Given the description of an element on the screen output the (x, y) to click on. 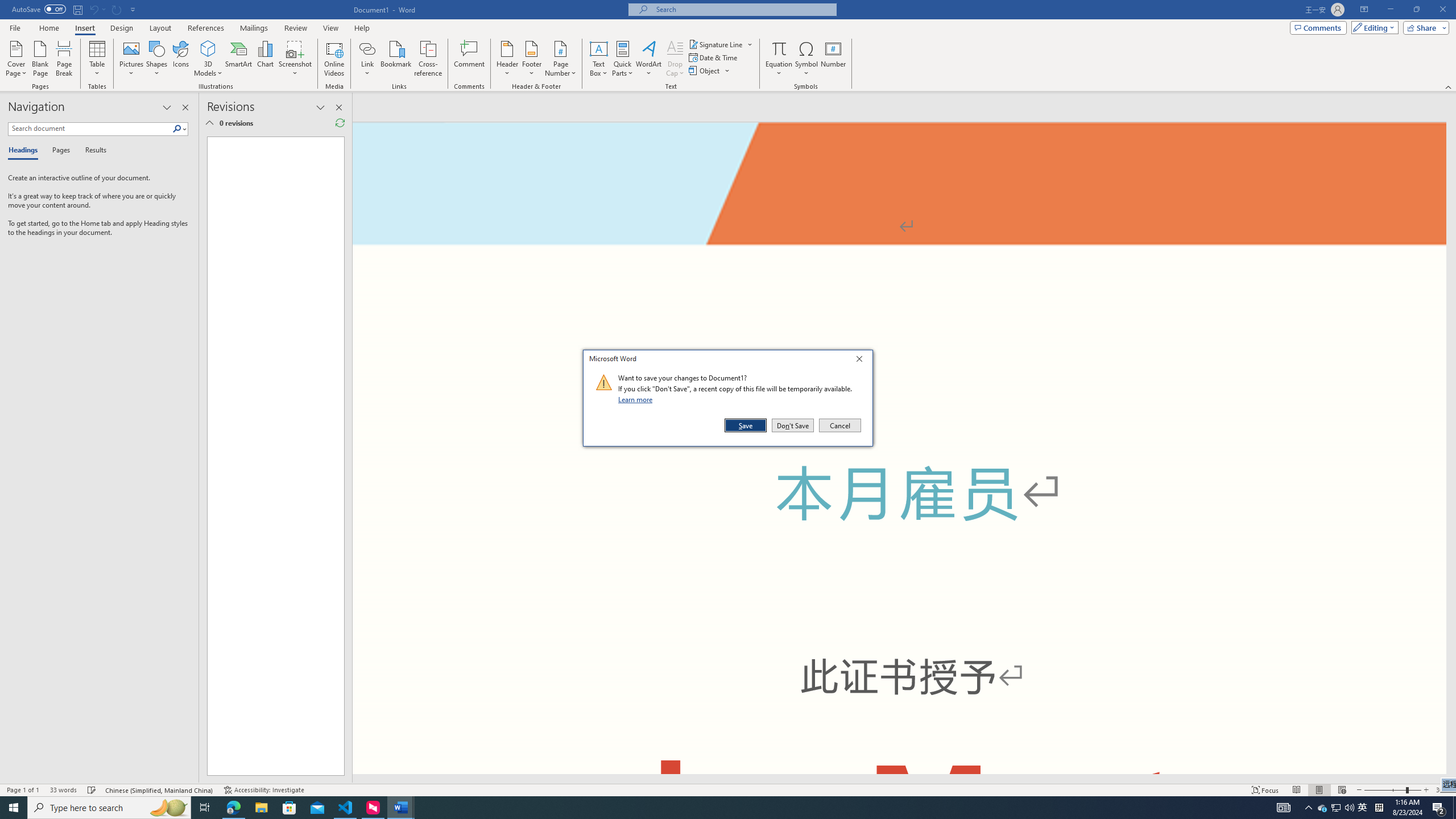
Chart... (265, 58)
Footer (531, 58)
Link (367, 58)
Zoom 308% (1443, 790)
Quick Parts (622, 58)
Signature Line (716, 44)
3D Models (208, 48)
Date & Time... (714, 56)
Shapes (156, 58)
